Given the description of an element on the screen output the (x, y) to click on. 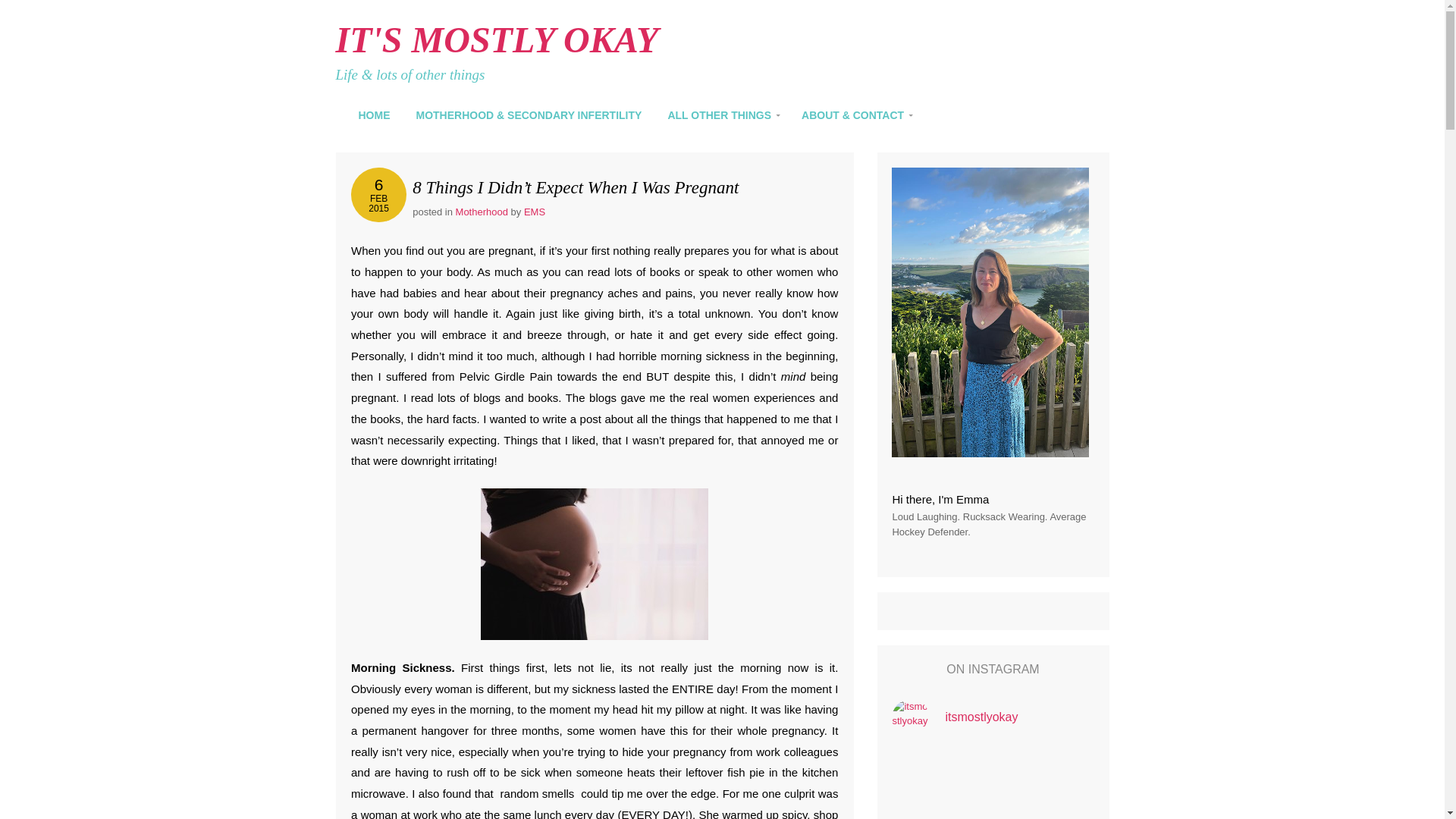
It's Mostly Okay (496, 39)
8:45 pm (379, 194)
IT'S MOSTLY OKAY (379, 194)
ALL OTHER THINGS (496, 39)
HOME (723, 115)
EMS (375, 115)
View all posts by EMS (534, 211)
Motherhood (534, 211)
